Given the description of an element on the screen output the (x, y) to click on. 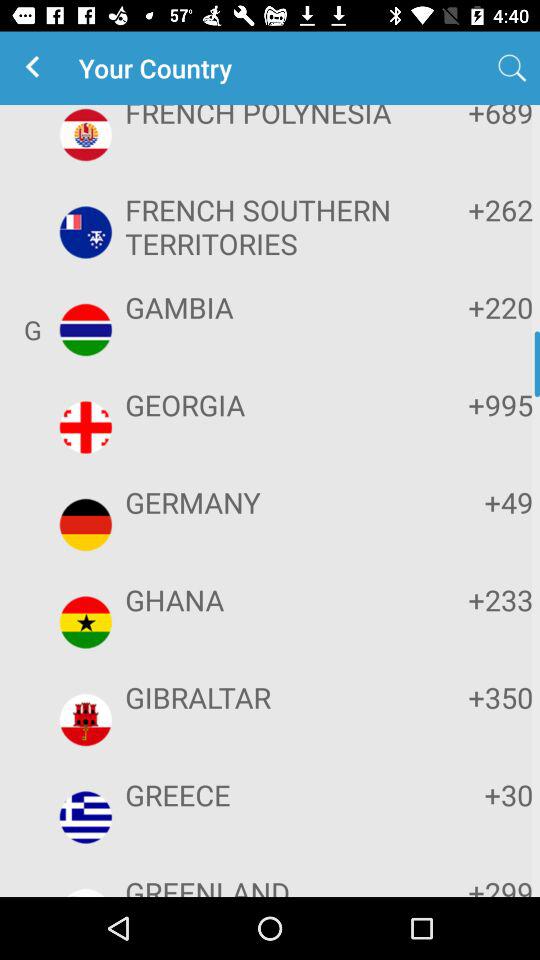
turn on the item next to french southern territories (471, 209)
